Given the description of an element on the screen output the (x, y) to click on. 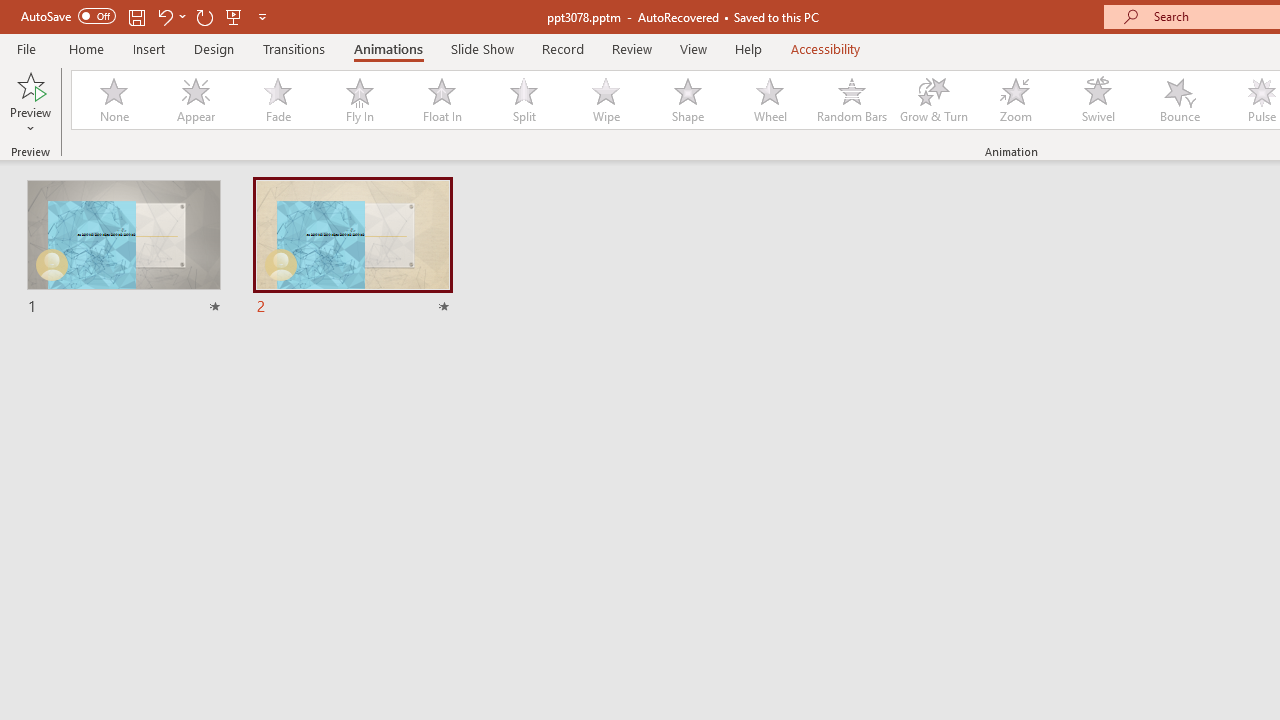
Wheel (770, 100)
